Given the description of an element on the screen output the (x, y) to click on. 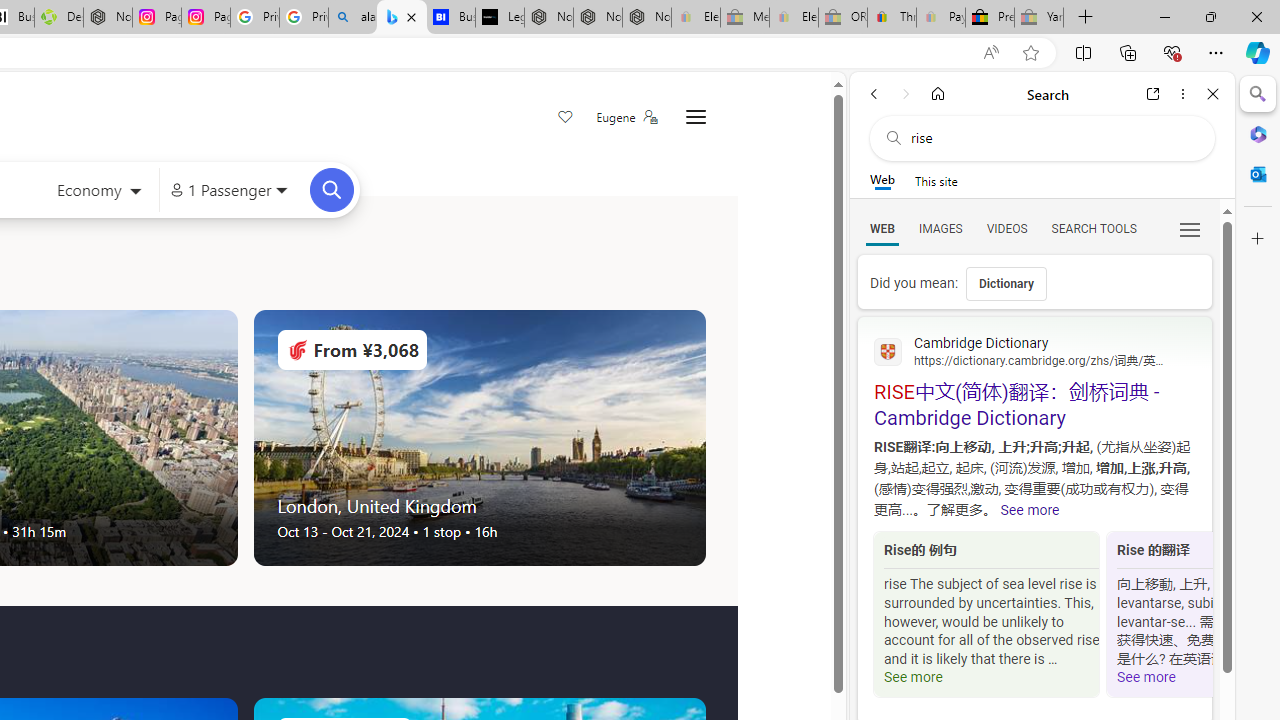
Save (565, 118)
Microsoft Bing Travel - Flights (401, 17)
